Given the description of an element on the screen output the (x, y) to click on. 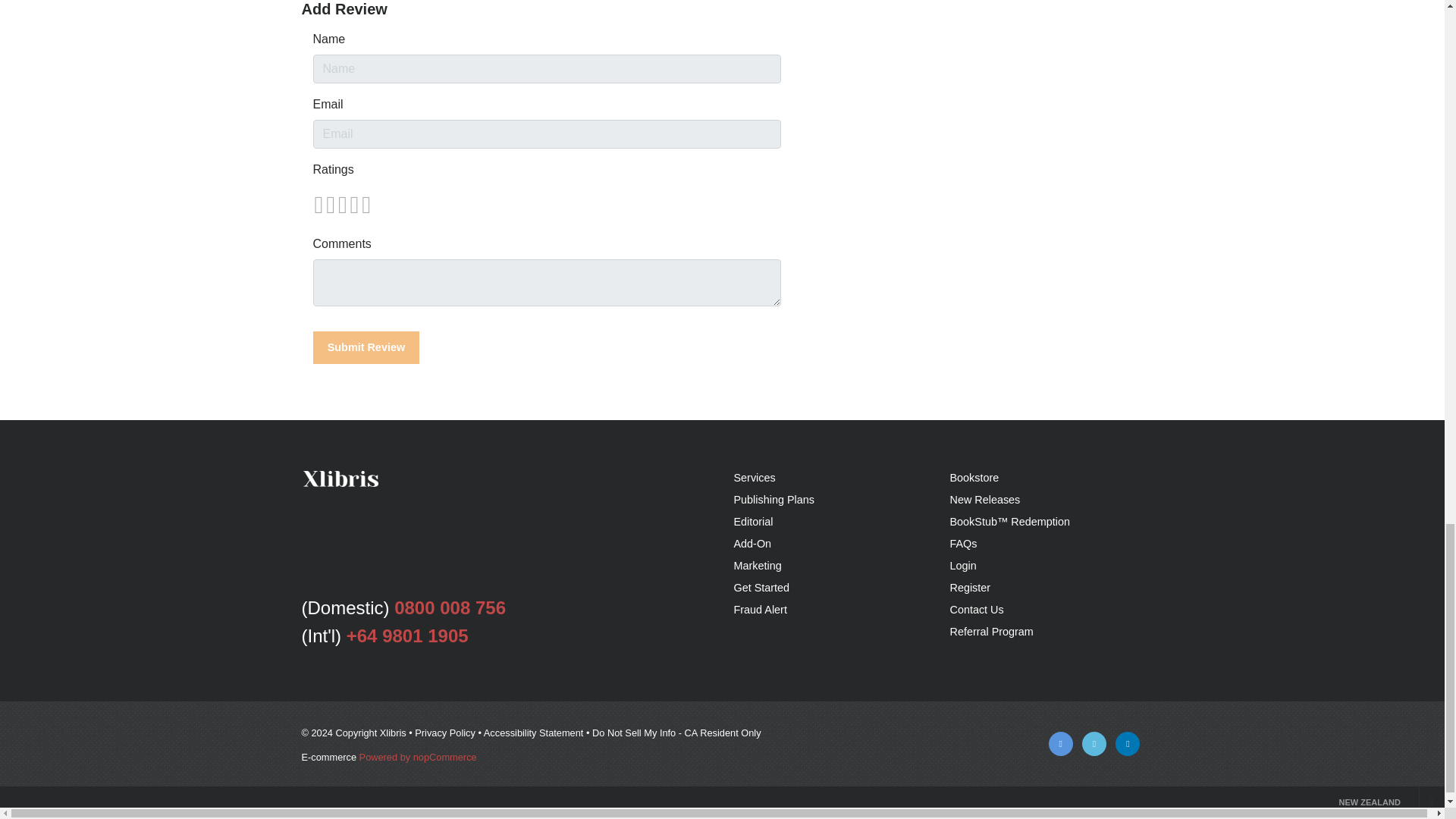
Bookstore (973, 477)
Editorial (753, 521)
Submit Review (366, 347)
Marketing (757, 565)
Get Started (761, 587)
Services (754, 477)
0800 008 756 (449, 607)
Add-On (752, 543)
New Releases (984, 499)
Fraud Alert (760, 609)
Not Rated (342, 204)
Publishing Plans (773, 499)
Submit Review (366, 347)
